Given the description of an element on the screen output the (x, y) to click on. 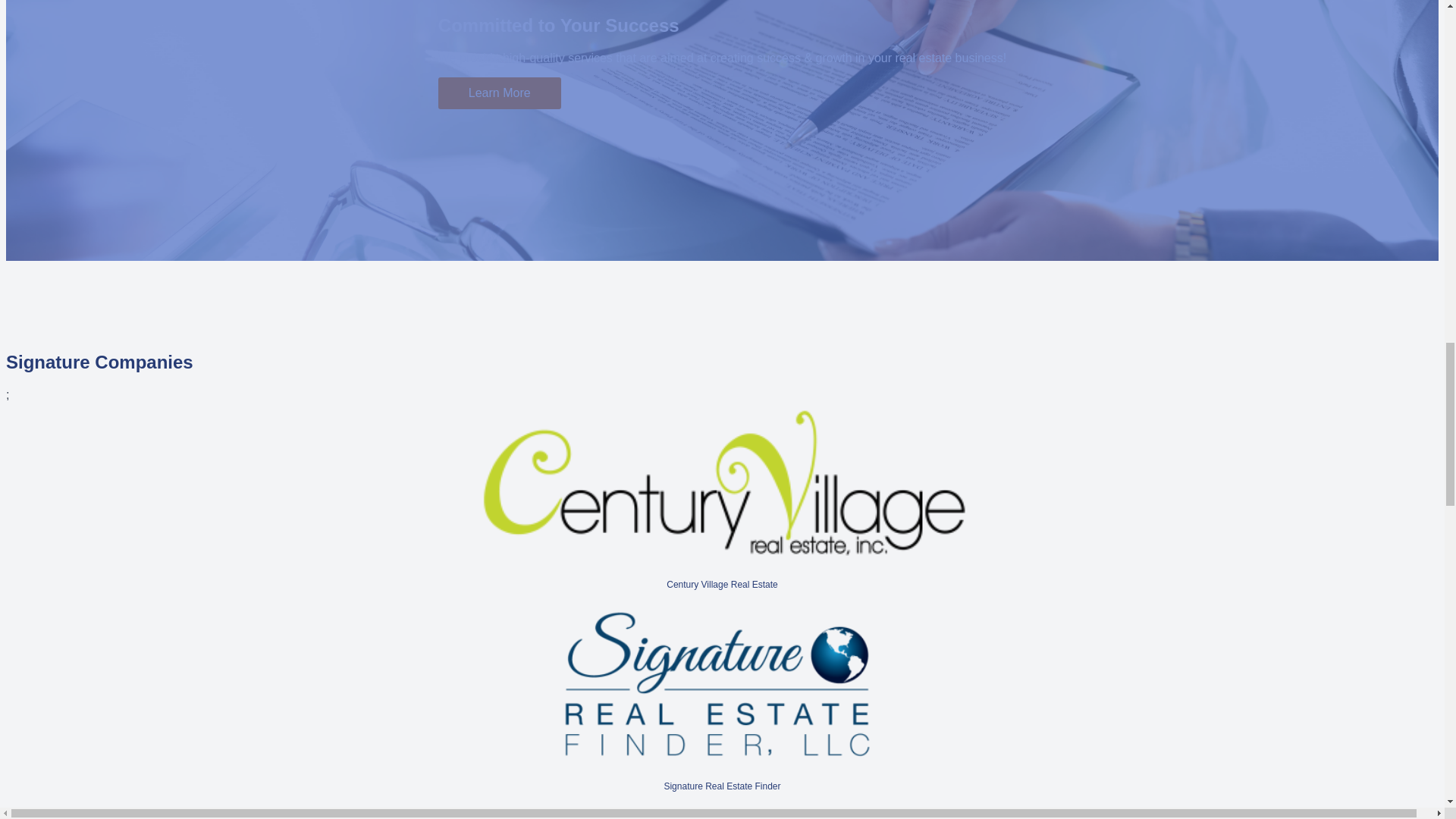
Learn More (499, 92)
Wynmoor Real Estate (721, 812)
